Given the description of an element on the screen output the (x, y) to click on. 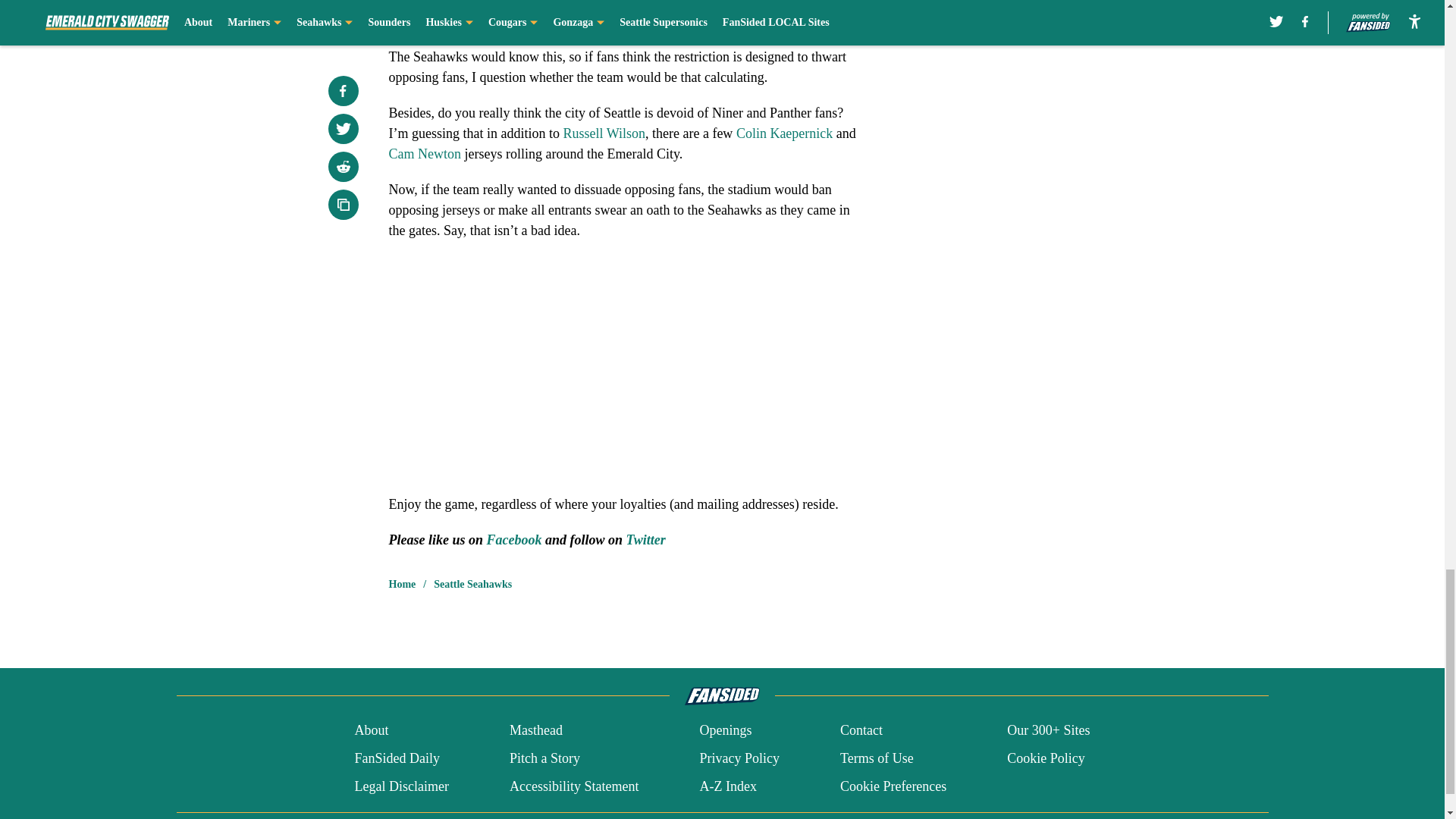
Home (401, 584)
About (370, 730)
Russell Wilson (603, 133)
Masthead (535, 730)
Colin Kaepernick (784, 133)
Cam Newton (424, 153)
Twitter (645, 539)
Seattle Seahawks (472, 584)
Facebook (513, 539)
